Given the description of an element on the screen output the (x, y) to click on. 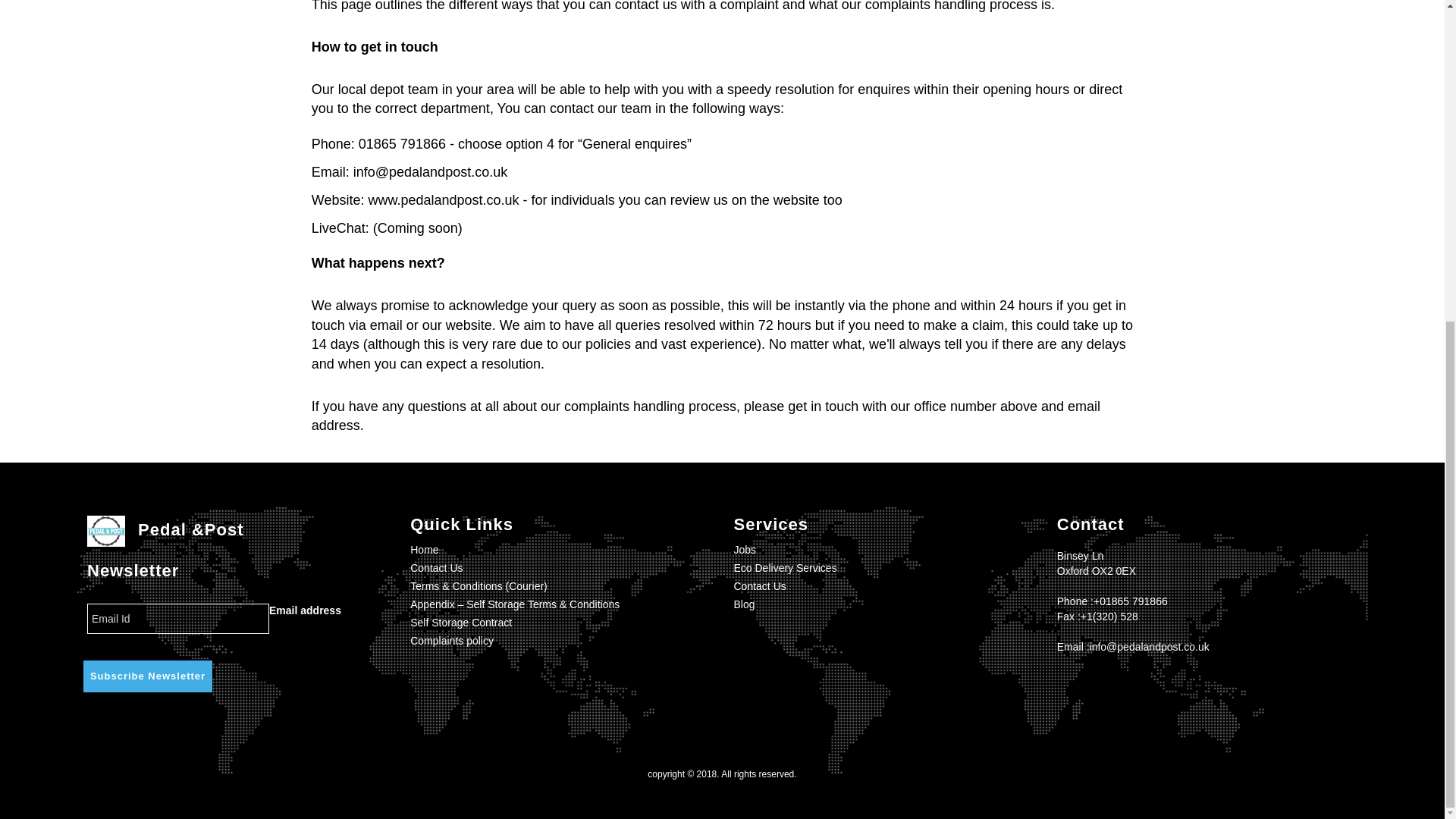
Blog (744, 604)
Home (424, 549)
Subscribe Newsletter (147, 676)
Contact Us (759, 585)
Subscribe Newsletter (147, 676)
Contact Us (436, 567)
Self Storage Contract (461, 622)
Complaints policy (451, 640)
Eco Delivery Services (785, 567)
Jobs (745, 549)
